Given the description of an element on the screen output the (x, y) to click on. 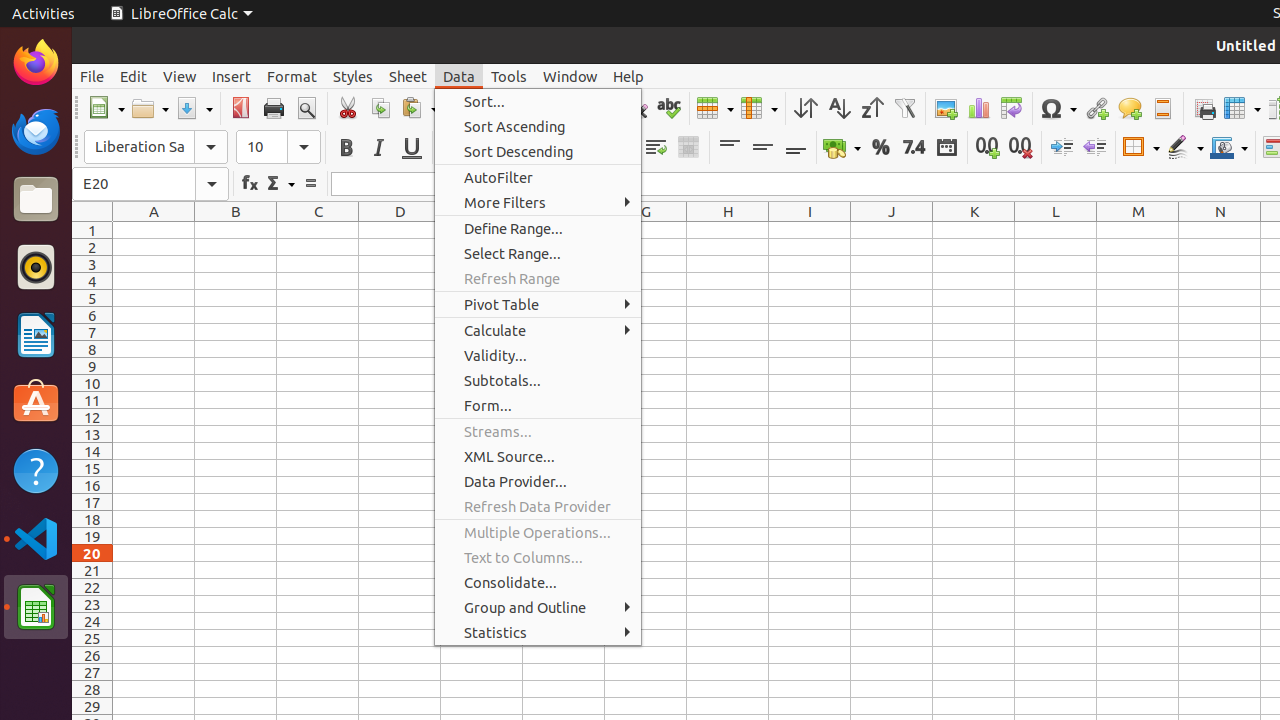
Form... Element type: menu-item (538, 405)
Statistics Element type: menu (538, 632)
C1 Element type: table-cell (318, 230)
PDF Element type: push-button (240, 108)
AutoFilter Element type: push-button (904, 108)
